Given the description of an element on the screen output the (x, y) to click on. 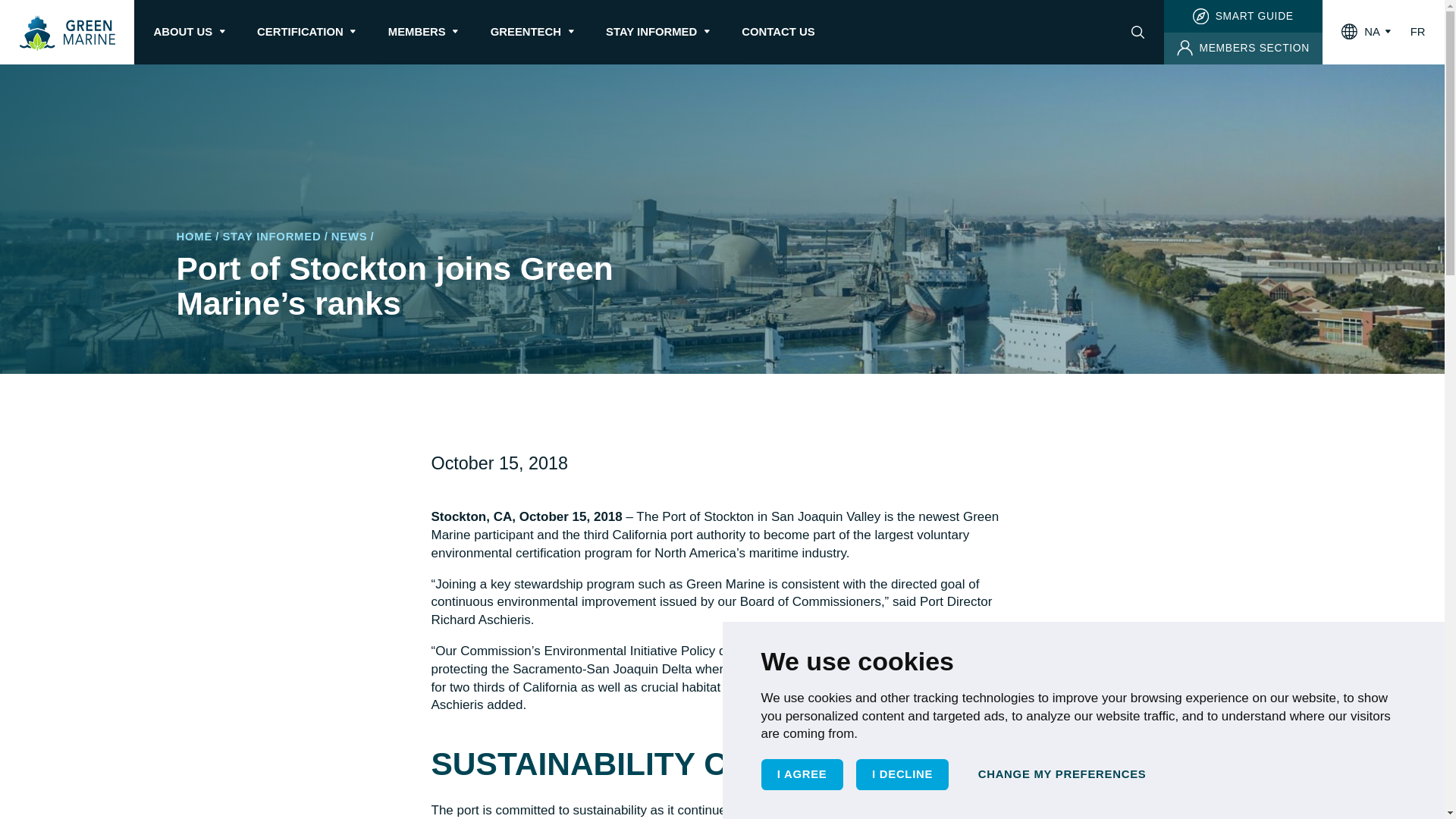
I DECLINE (902, 774)
MEMBERS (416, 32)
ABOUT US (182, 32)
CERTIFICATION (300, 32)
CONTACT US (777, 32)
CHANGE MY PREFERENCES (1060, 774)
SMART GUIDE (1242, 16)
GREENTECH (525, 32)
STAY INFORMED (651, 32)
